Given the description of an element on the screen output the (x, y) to click on. 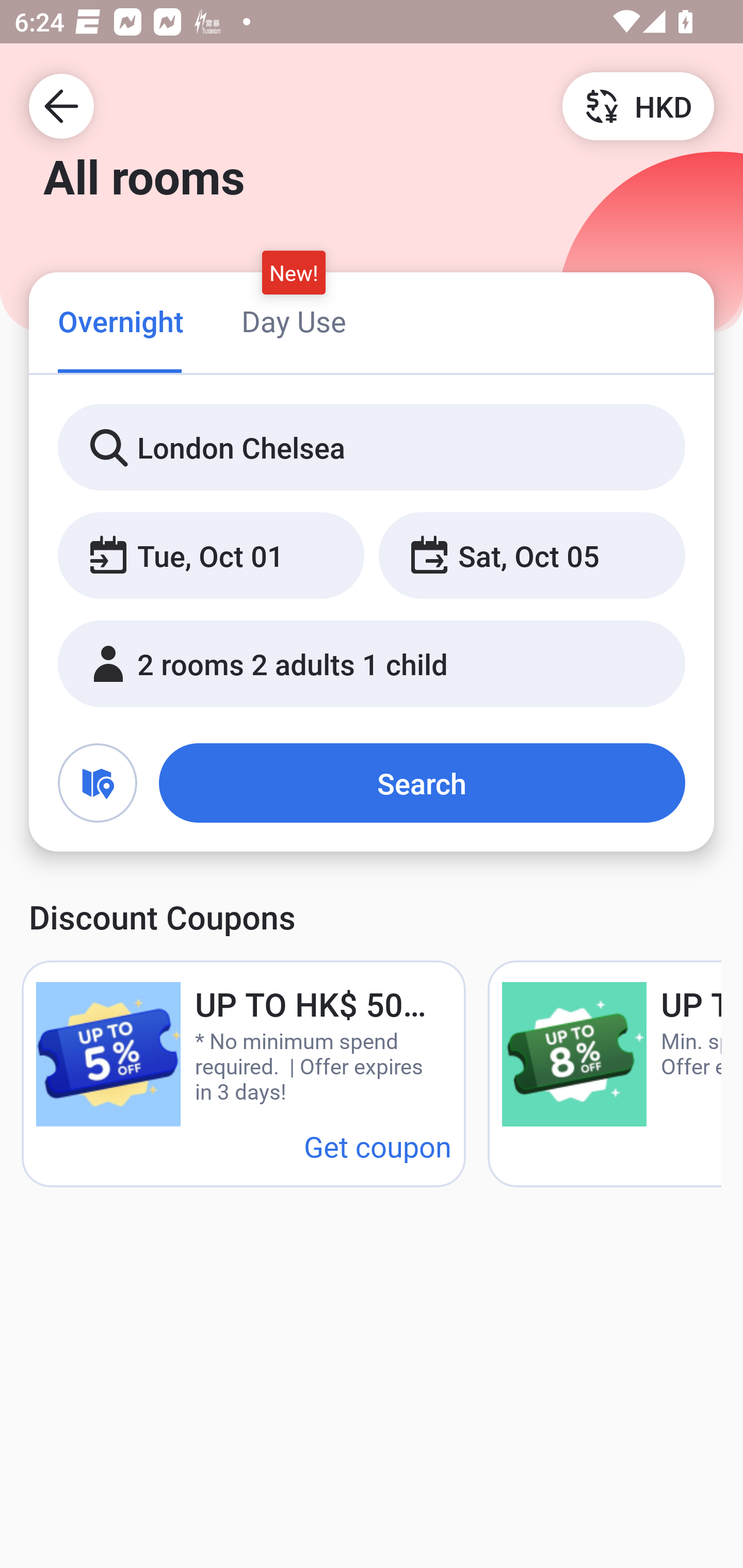
HKD (638, 105)
New! (294, 272)
Day Use (293, 321)
London Chelsea (371, 447)
Tue, Oct 01 (210, 555)
Sat, Oct 05 (531, 555)
2 rooms 2 adults 1 child (371, 663)
Search (422, 783)
Get coupon (377, 1146)
